Given the description of an element on the screen output the (x, y) to click on. 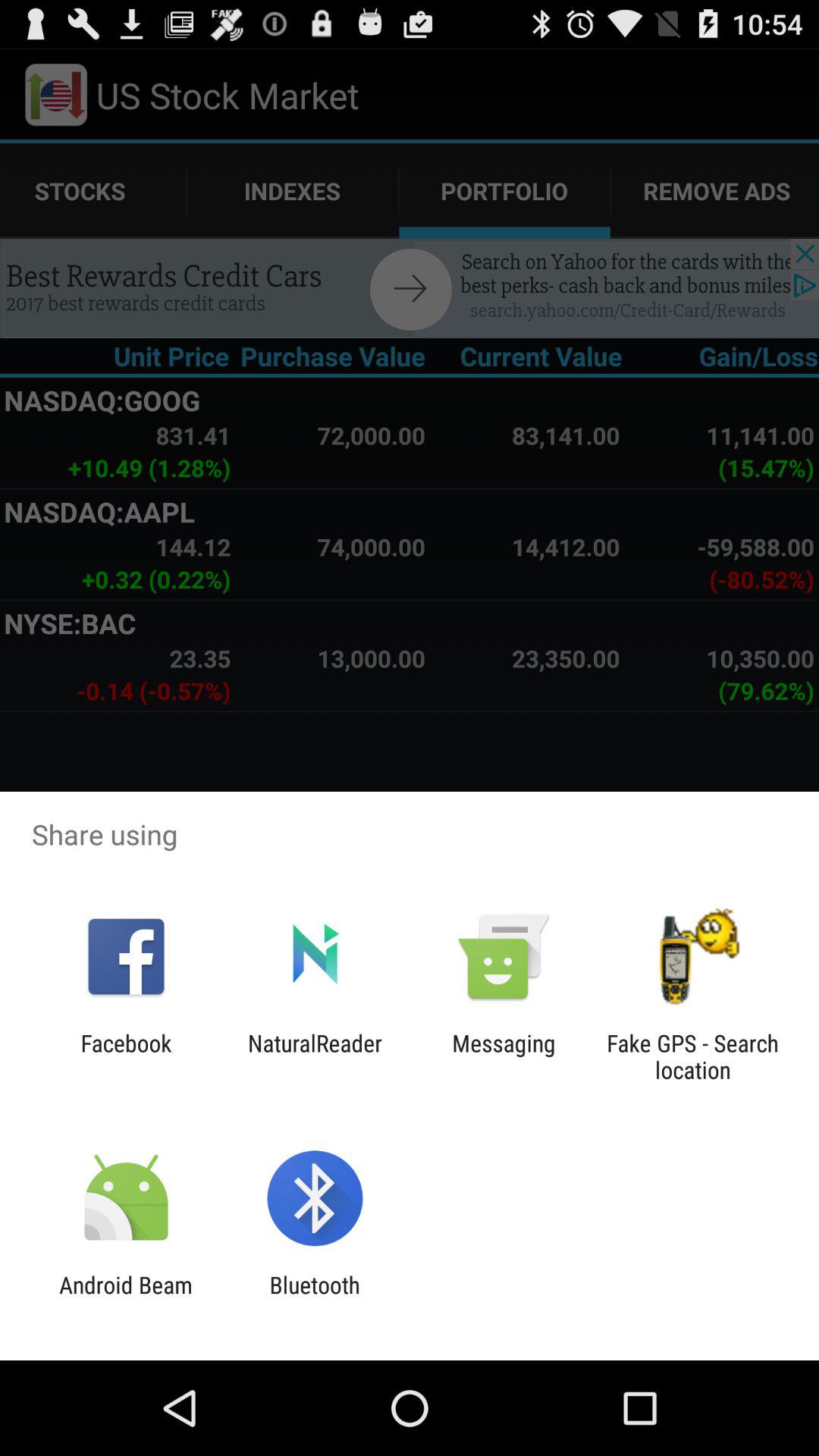
open the item next to fake gps search app (503, 1056)
